Given the description of an element on the screen output the (x, y) to click on. 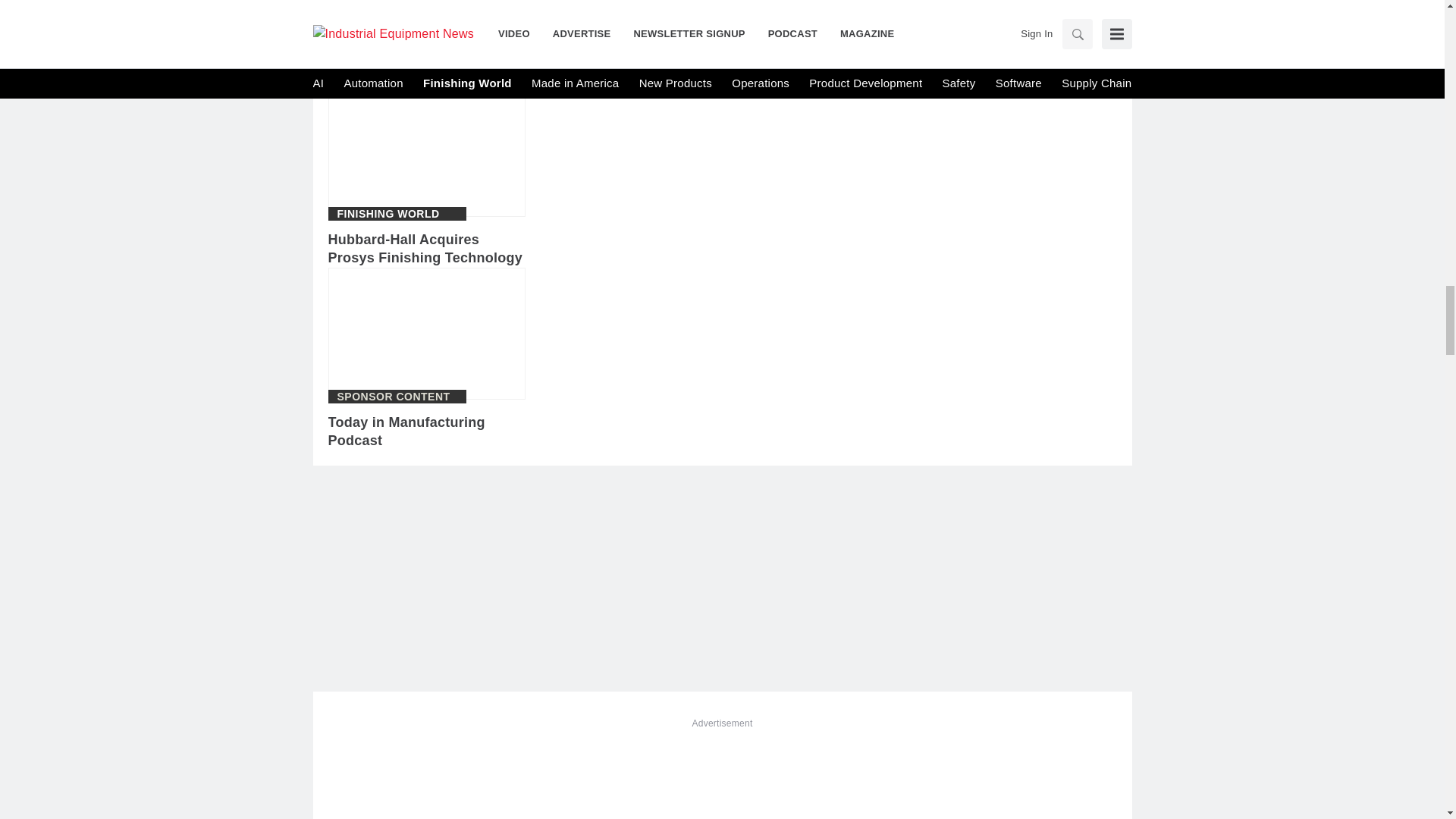
Sponsor Content (392, 396)
Finishing World (387, 13)
Finishing World (387, 213)
